Given the description of an element on the screen output the (x, y) to click on. 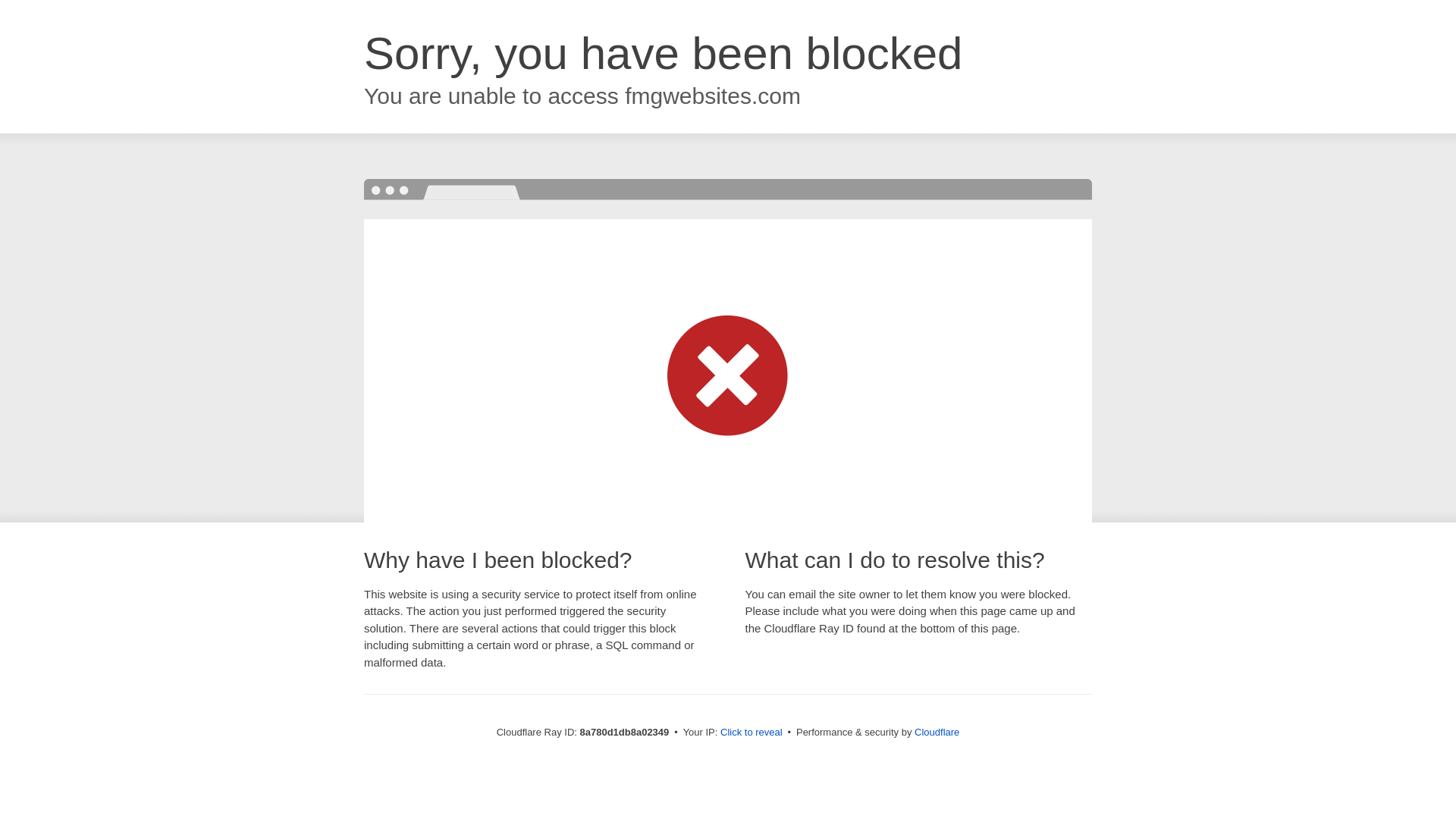
Click to reveal (751, 732)
Cloudflare (936, 731)
